Given the description of an element on the screen output the (x, y) to click on. 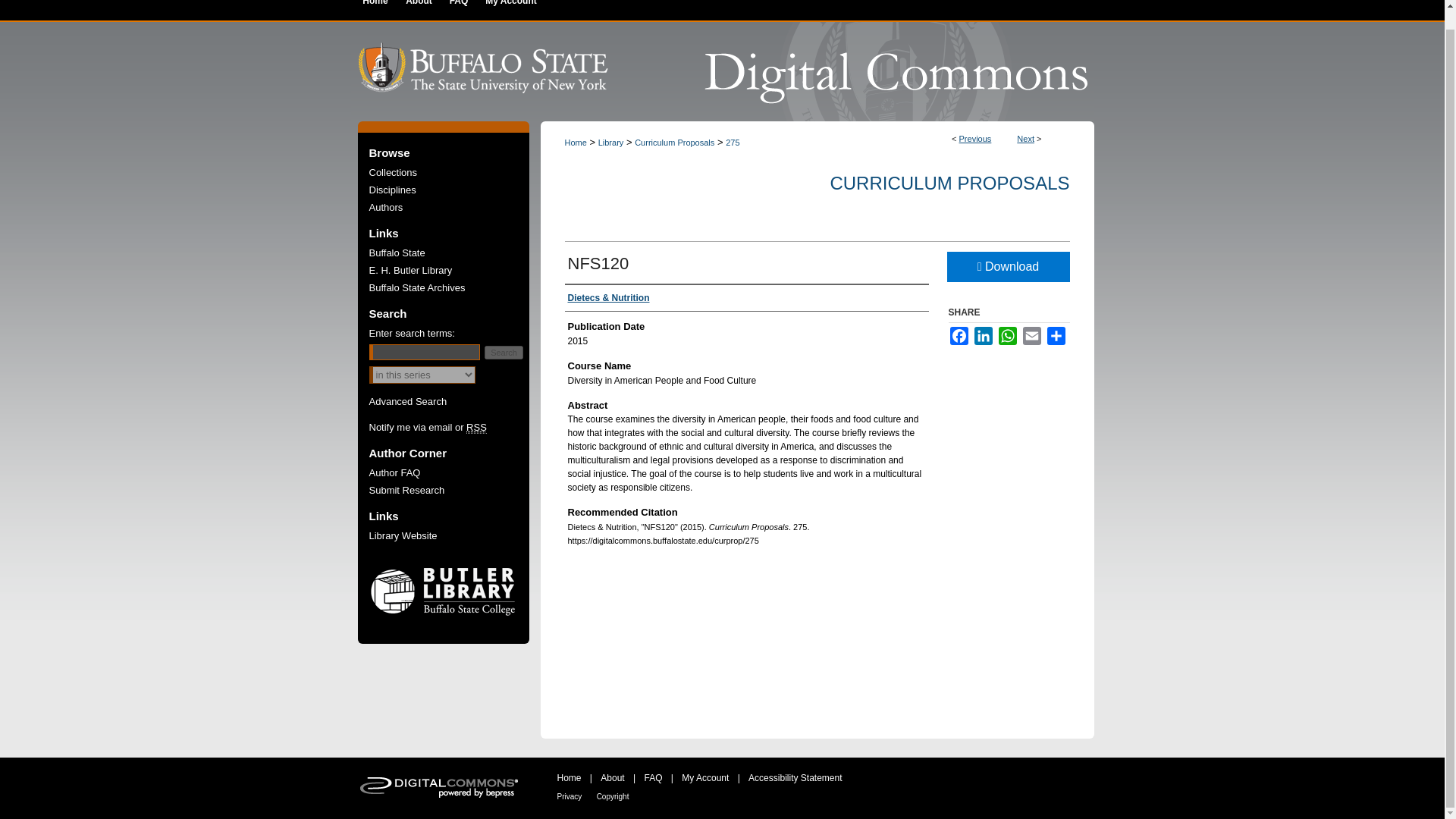
My Account (510, 10)
Search (503, 351)
Browse by Disciplines (453, 189)
CURRICULUM PROPOSALS (948, 182)
Browse by Collections (453, 172)
Author FAQ (453, 472)
NFS120 (597, 262)
Browse by Author (453, 206)
Disciplines (453, 189)
E. H. Butler Library (453, 270)
